Given the description of an element on the screen output the (x, y) to click on. 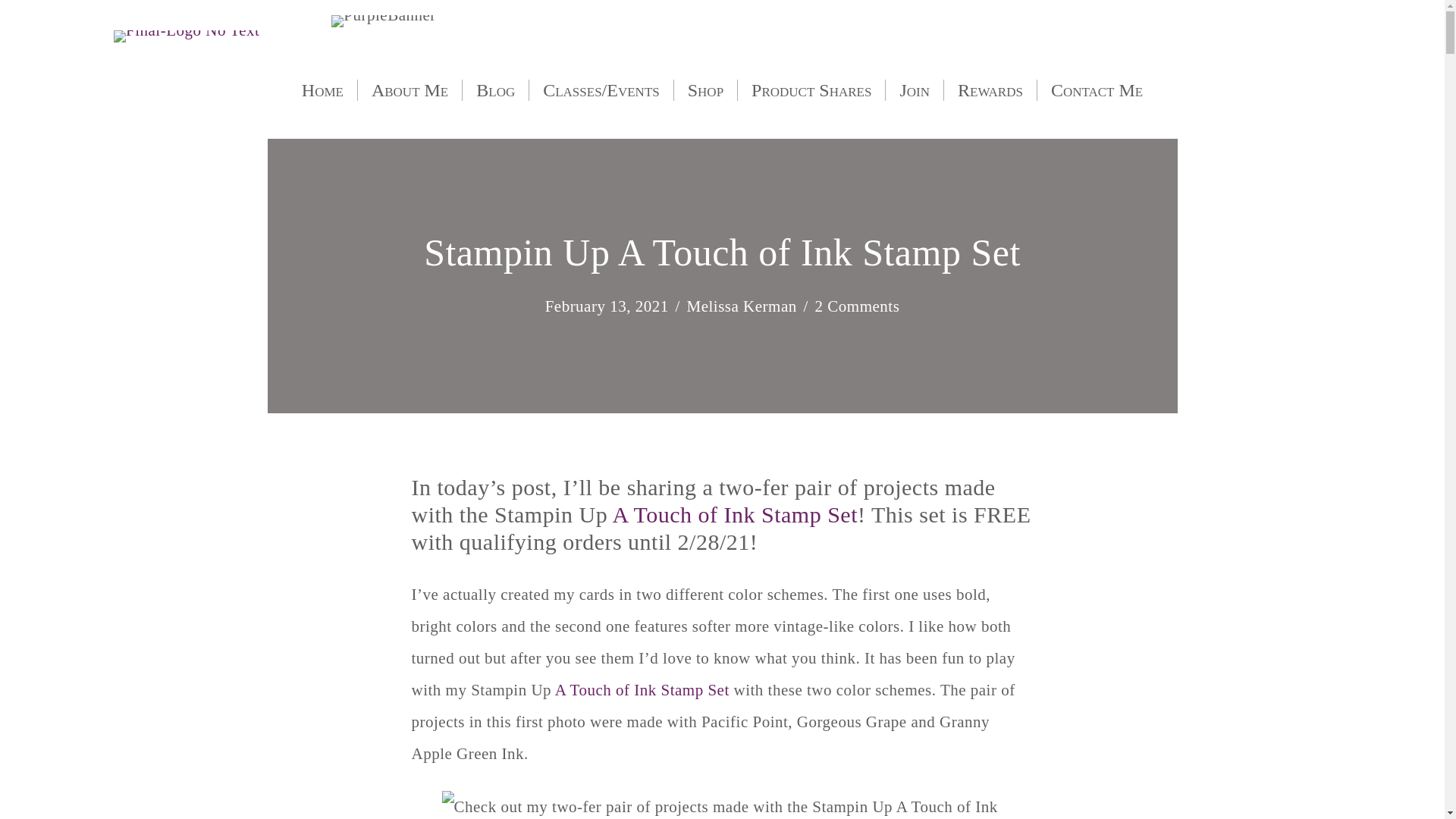
Final-Logo No Text (186, 36)
Join (914, 89)
Shop (705, 89)
About Me (409, 89)
Contact Me (1096, 89)
Blog (495, 89)
Rewards (989, 89)
Home (322, 89)
Product Shares (811, 89)
PurpleBanner (383, 21)
